Given the description of an element on the screen output the (x, y) to click on. 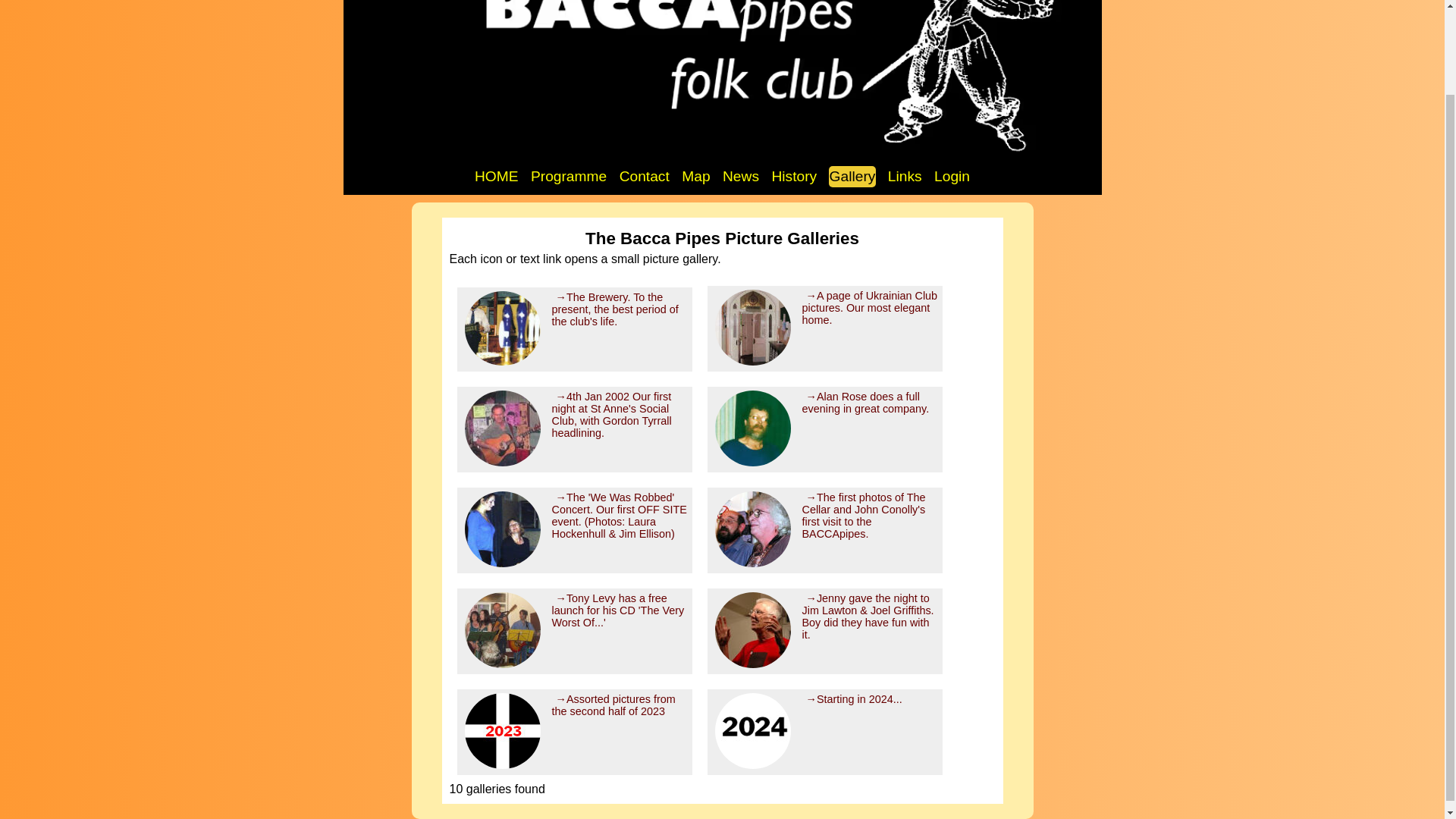
Map (695, 176)
News (741, 176)
Links (904, 176)
HOME (496, 176)
Login (952, 176)
Programme (568, 176)
History (793, 176)
Contact (643, 176)
Gallery (852, 176)
